Given the description of an element on the screen output the (x, y) to click on. 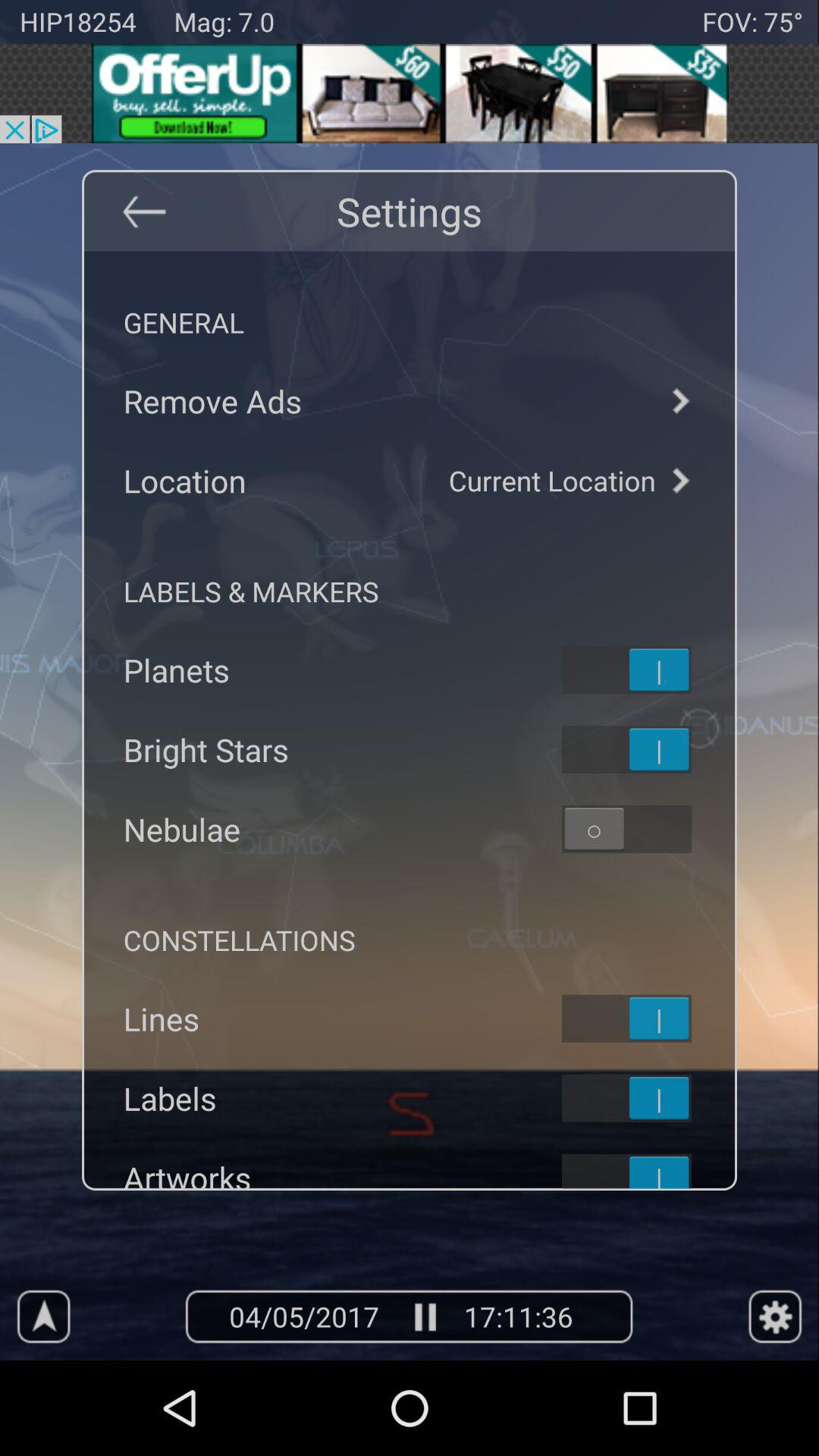
nebulae toggle option (646, 829)
